Given the description of an element on the screen output the (x, y) to click on. 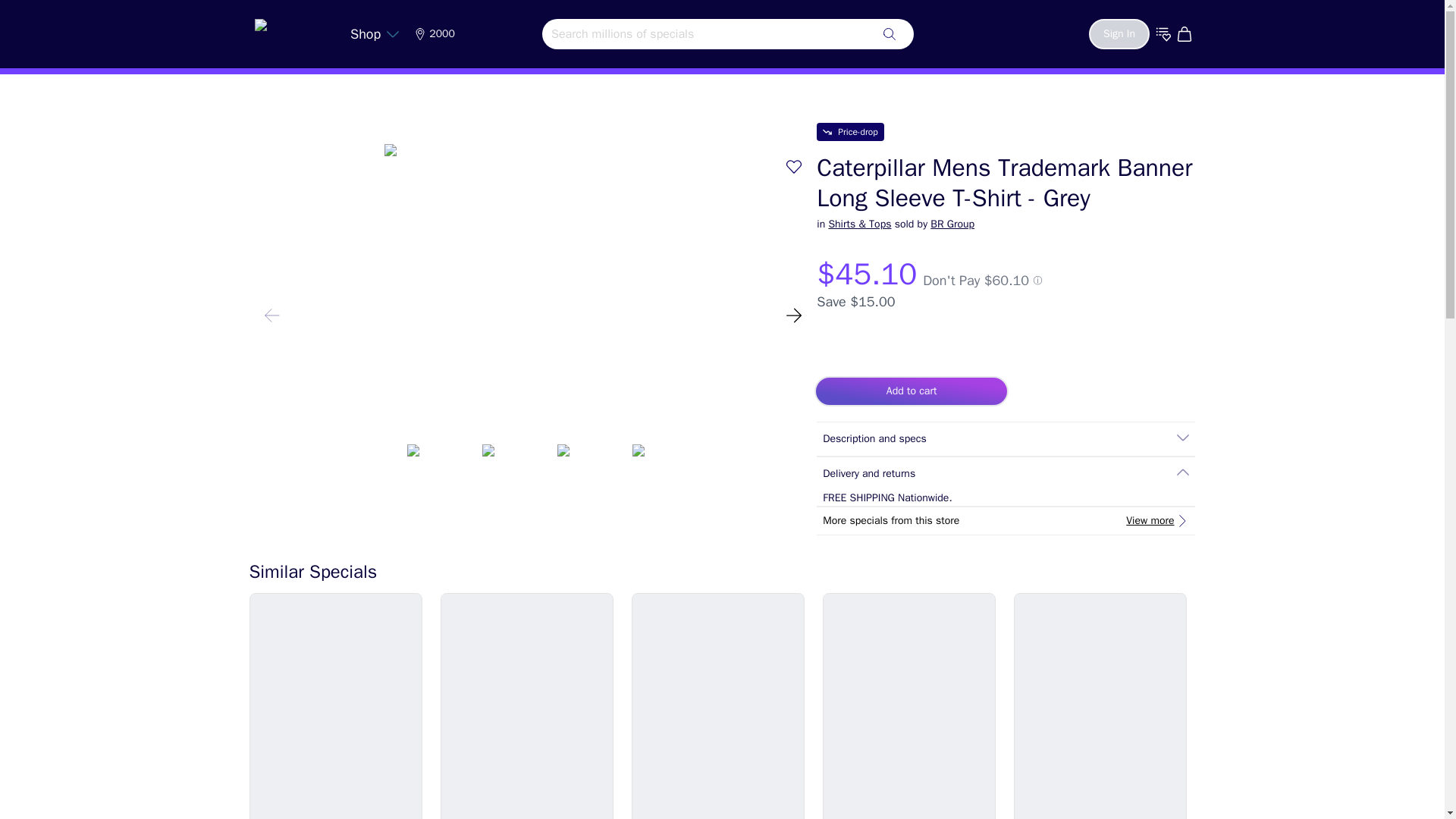
lasoo (291, 30)
Go to wishlist (1163, 33)
Shop (374, 33)
Go to cart (1185, 33)
